Given the description of an element on the screen output the (x, y) to click on. 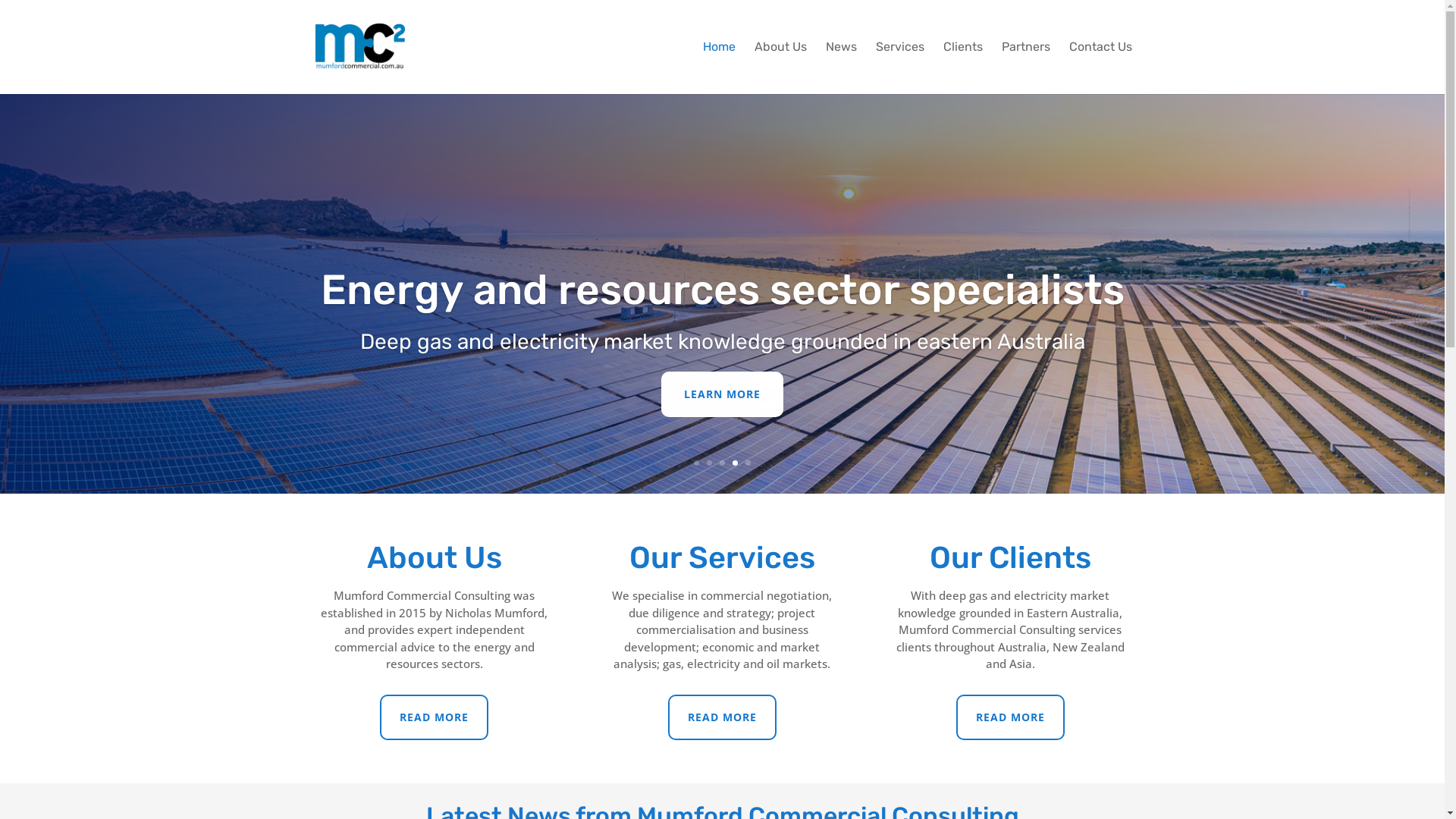
Partners Element type: text (1025, 67)
READ MORE Element type: text (433, 717)
Services Element type: text (899, 67)
3 Element type: text (721, 462)
LEARN MORE Element type: text (722, 394)
READ MORE Element type: text (1010, 717)
4 Element type: text (734, 462)
News Element type: text (840, 67)
Clients Element type: text (962, 67)
1 Element type: text (696, 462)
5 Element type: text (747, 462)
2 Element type: text (709, 462)
Energy and resources sector specialists Element type: text (721, 289)
Home Element type: text (718, 67)
Contact Us Element type: text (1100, 67)
About Us Element type: text (779, 67)
READ MORE Element type: text (722, 717)
